Given the description of an element on the screen output the (x, y) to click on. 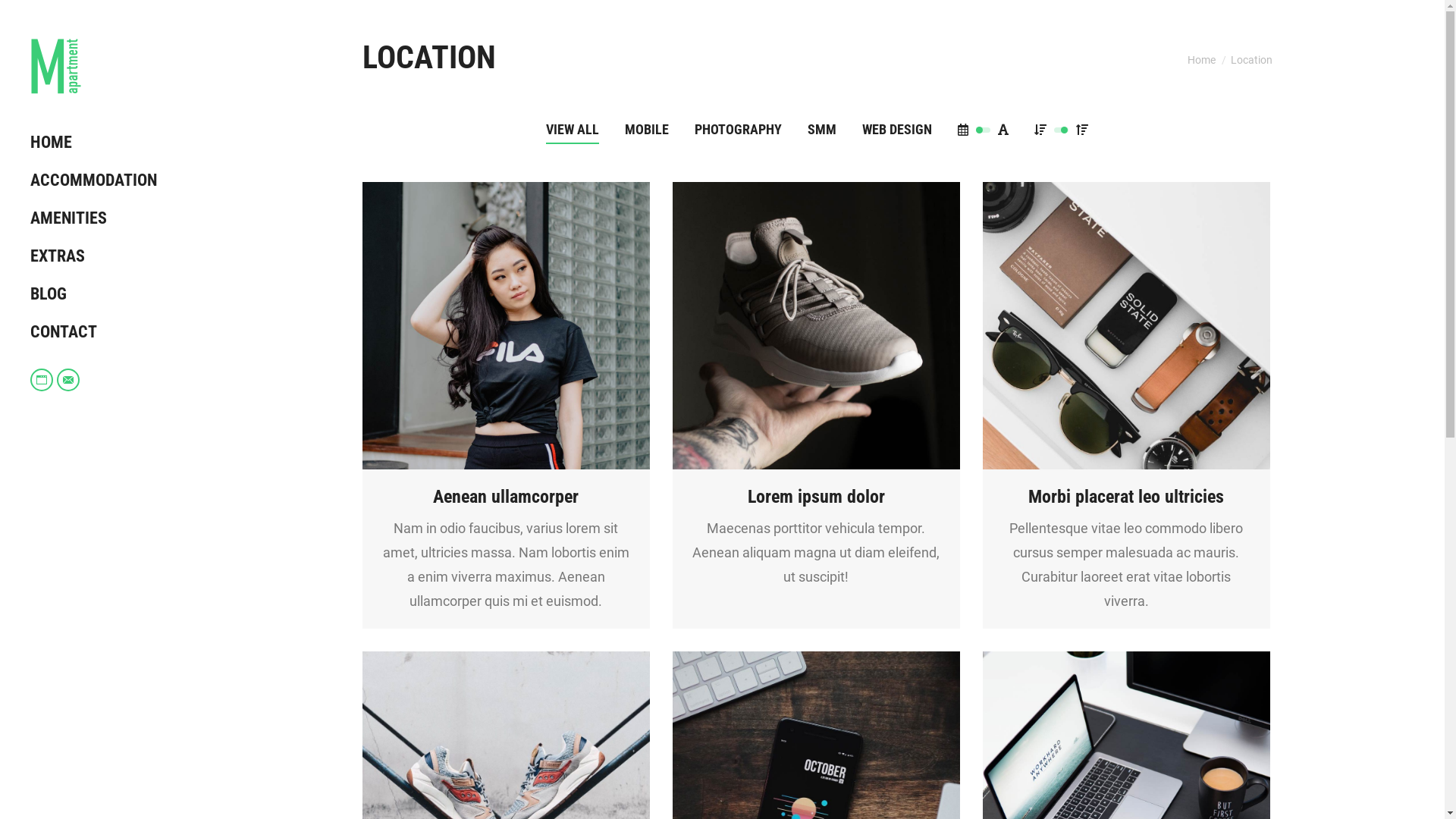
Morbi placerat leo ultricies Element type: text (1125, 496)
SMM Element type: text (821, 129)
Website Element type: text (41, 379)
Home Element type: text (1201, 59)
c130 Element type: hover (1126, 325)
EXTRAS Element type: text (109, 256)
WEB DESIGN Element type: text (896, 129)
Aenean ullamcorper Element type: text (505, 496)
PHOTOGRAPHY Element type: text (737, 129)
Mail Element type: text (67, 379)
HOME Element type: text (109, 142)
CONTACT Element type: text (109, 332)
c017 Element type: hover (505, 325)
Lorem ipsum dolor Element type: text (815, 496)
MOBILE Element type: text (646, 129)
c020 Element type: hover (815, 325)
VIEW ALL Element type: text (572, 129)
AMENITIES Element type: text (109, 218)
BLOG Element type: text (109, 294)
ACCOMMODATION Element type: text (109, 180)
